Given the description of an element on the screen output the (x, y) to click on. 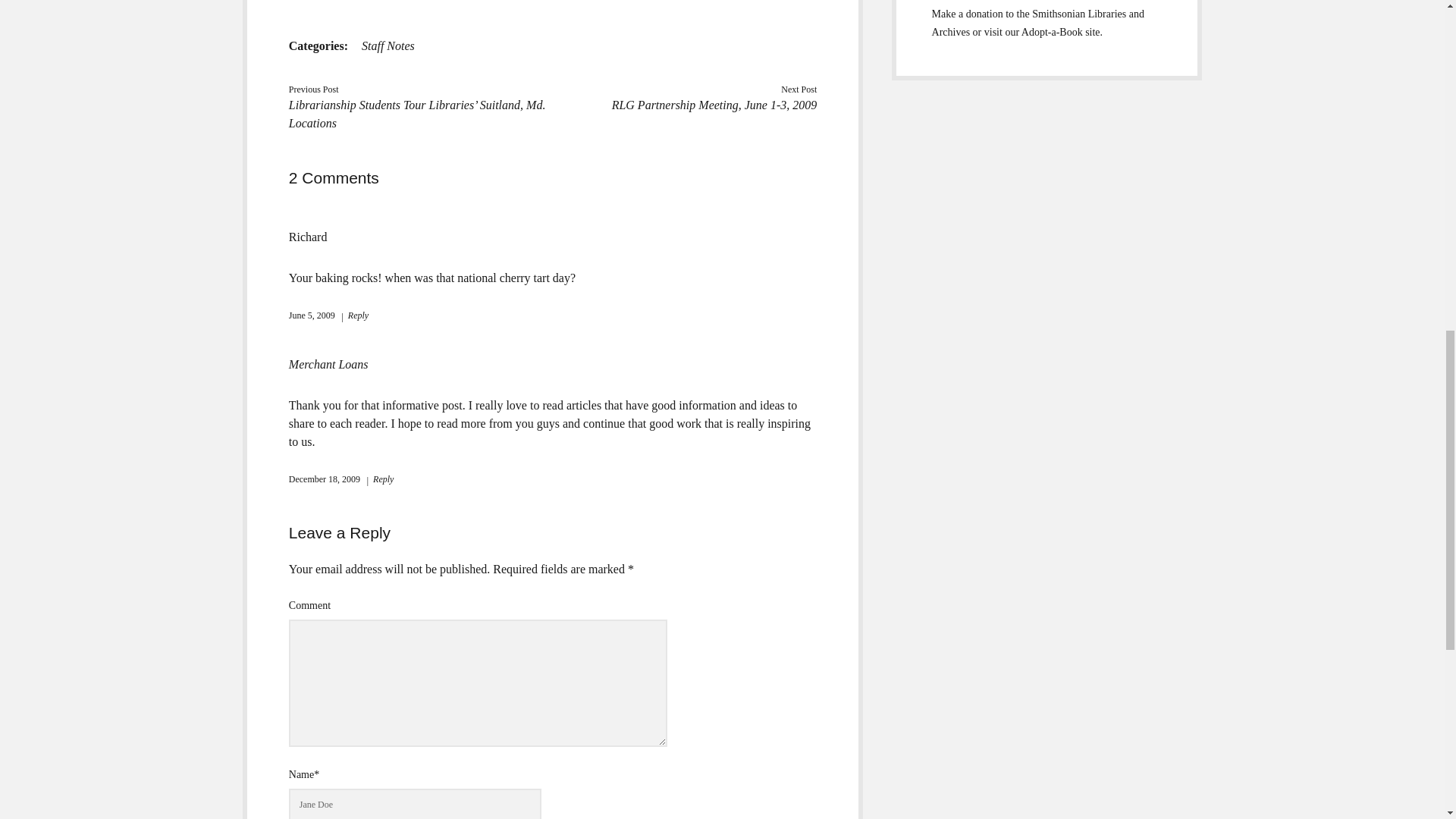
Merchant Loans (328, 364)
Reply (354, 315)
RLG Partnership Meeting, June 1-3, 2009 (713, 104)
Reply (379, 479)
Staff Notes (387, 45)
View all posts in Staff Notes (387, 45)
